Given the description of an element on the screen output the (x, y) to click on. 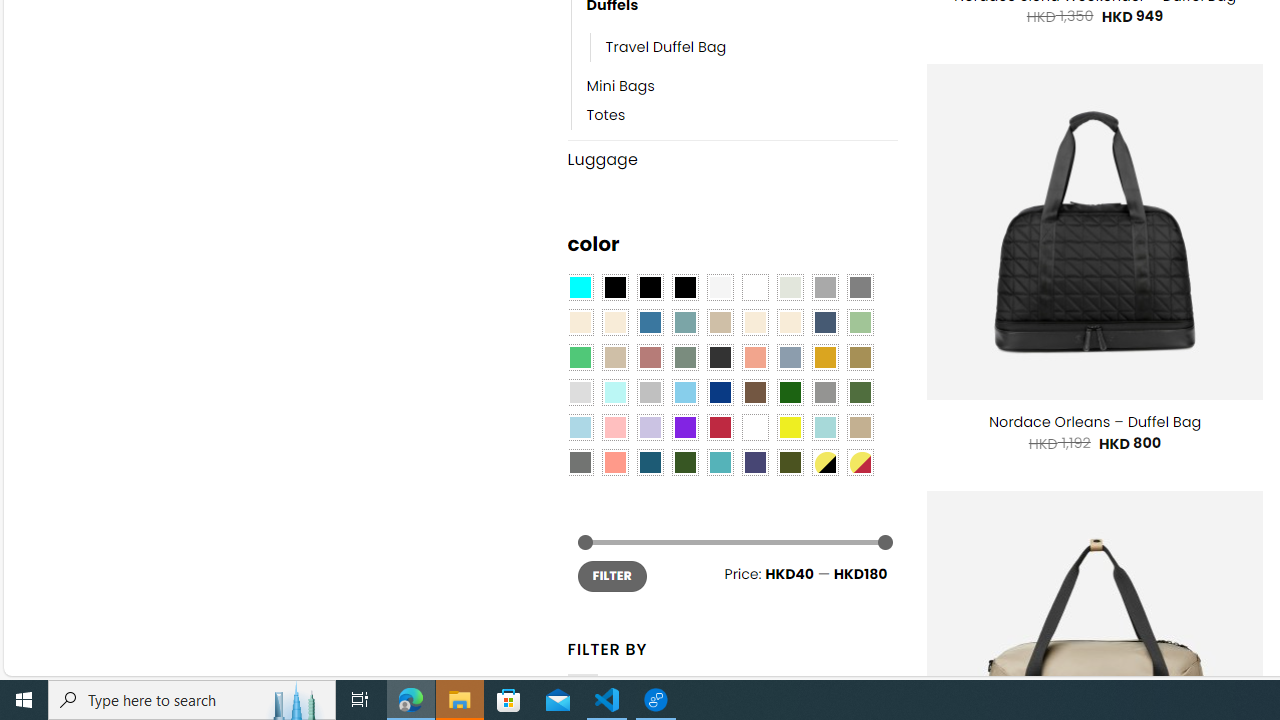
Blue Sage (684, 323)
All Gray (859, 287)
Mint (614, 393)
Green (859, 393)
Dusty Blue (789, 357)
Rose (650, 357)
Navy Blue (719, 393)
Ash Gray (789, 287)
Red (719, 427)
Blue (650, 323)
White (755, 427)
Brownie (719, 323)
Yellow-Black (824, 462)
Coral (755, 357)
Caramel (755, 323)
